Given the description of an element on the screen output the (x, y) to click on. 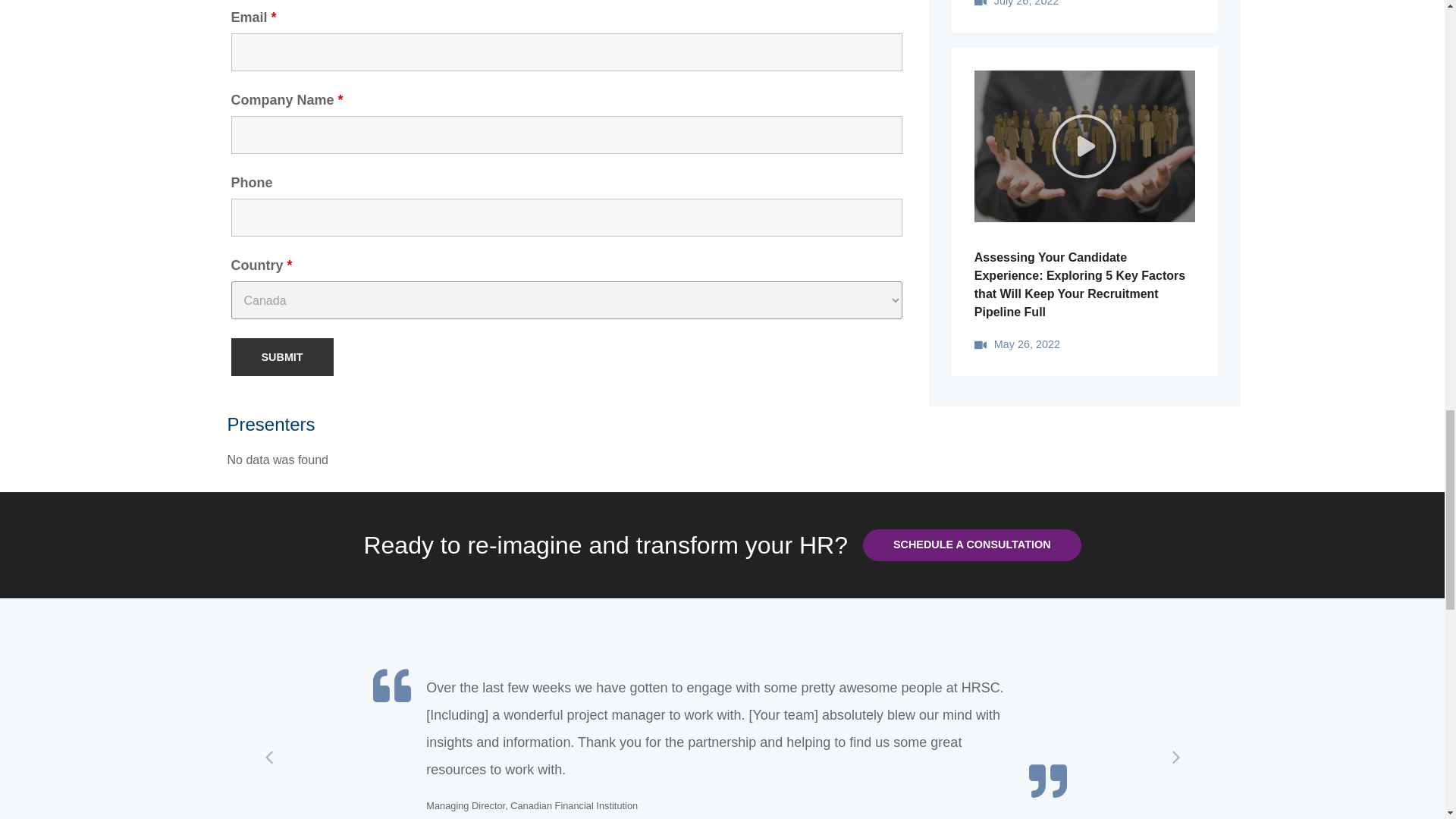
Submit (281, 356)
Submit (281, 356)
